Given the description of an element on the screen output the (x, y) to click on. 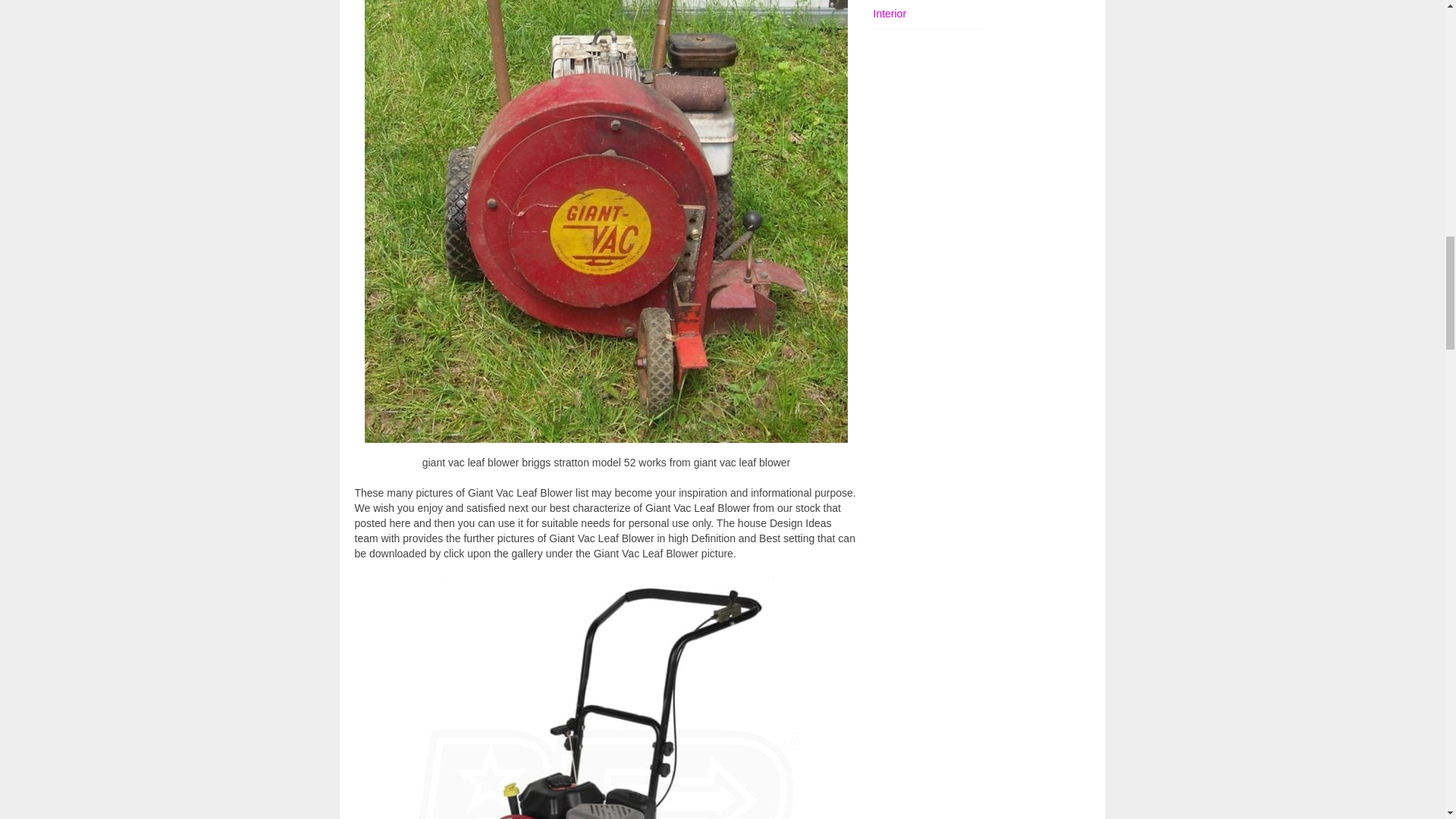
giant vac 7085914 lbc6152bv classic walk behind blower (606, 696)
